Given the description of an element on the screen output the (x, y) to click on. 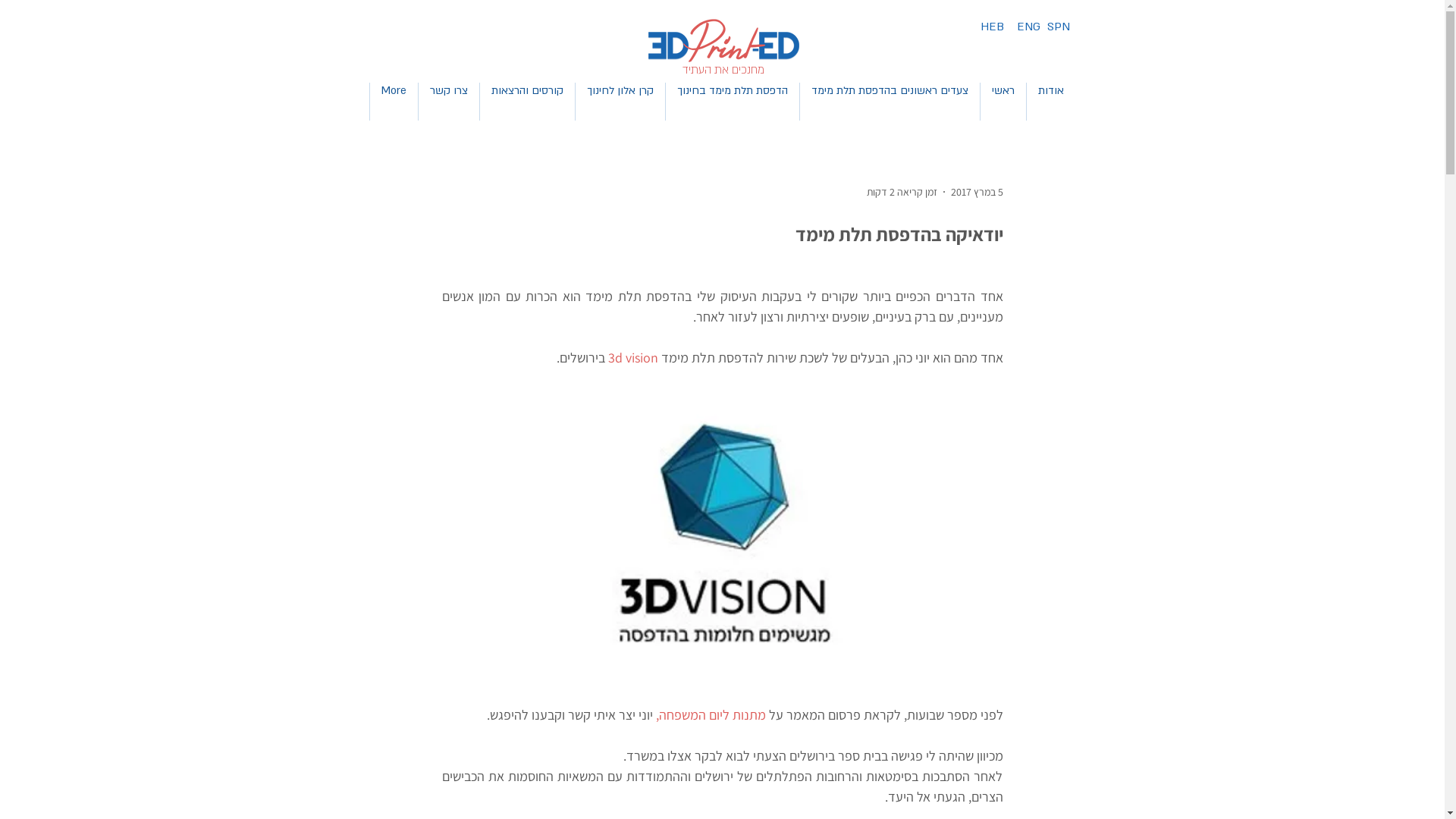
SPN Element type: text (1057, 27)
ENG Element type: text (1027, 27)
HEB Element type: text (991, 27)
3d vision Element type: text (633, 357)
